Given the description of an element on the screen output the (x, y) to click on. 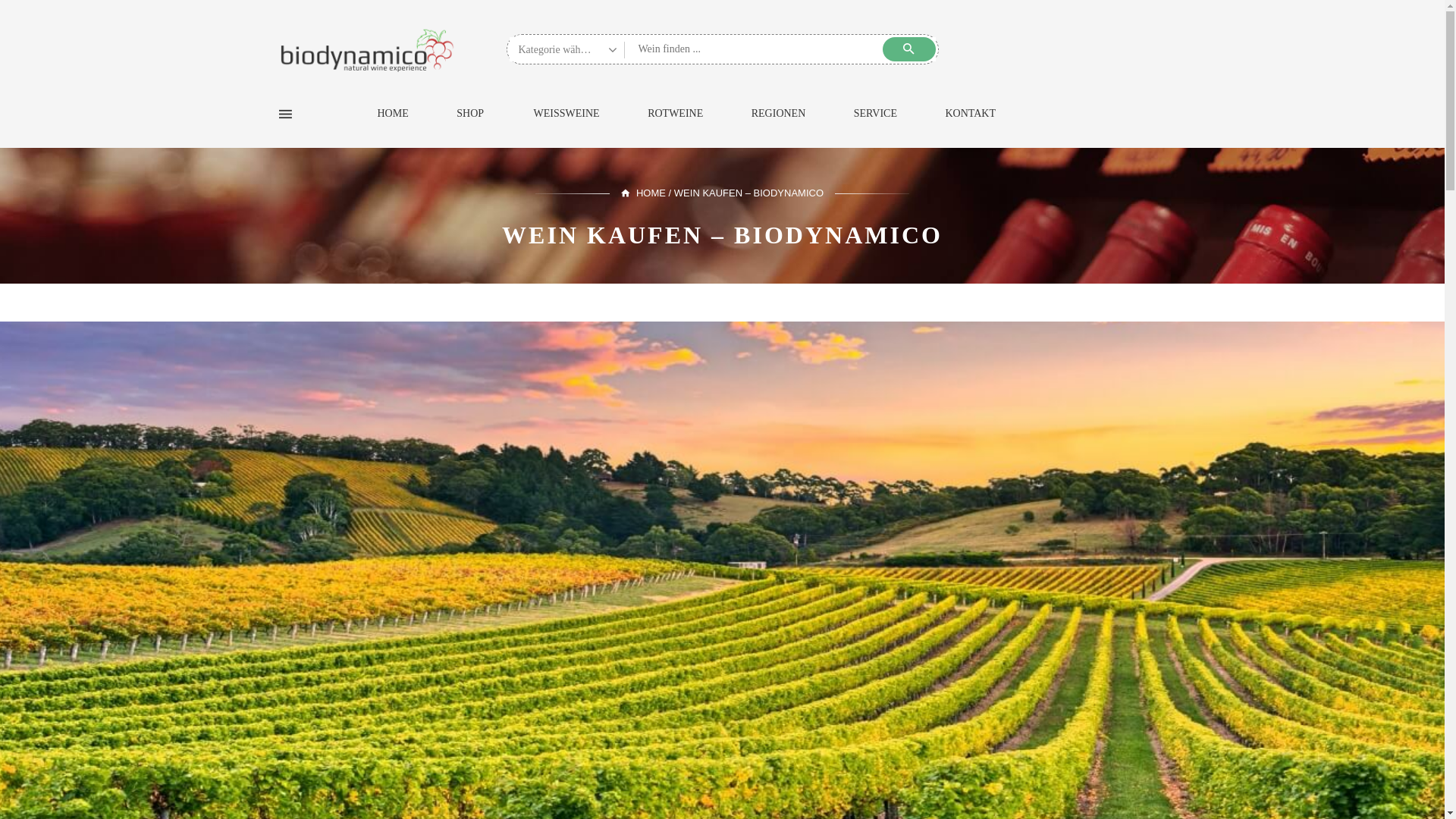
SHOP Element type: text (469, 126)
REGIONEN Element type: text (778, 126)
WEISSWEINE Element type: text (566, 126)
Search Element type: text (908, 49)
KONTAKT Element type: text (970, 126)
SERVICE Element type: text (875, 126)
HOME Element type: text (643, 192)
ROTWEINE Element type: text (674, 126)
HOME Element type: text (392, 126)
